Given the description of an element on the screen output the (x, y) to click on. 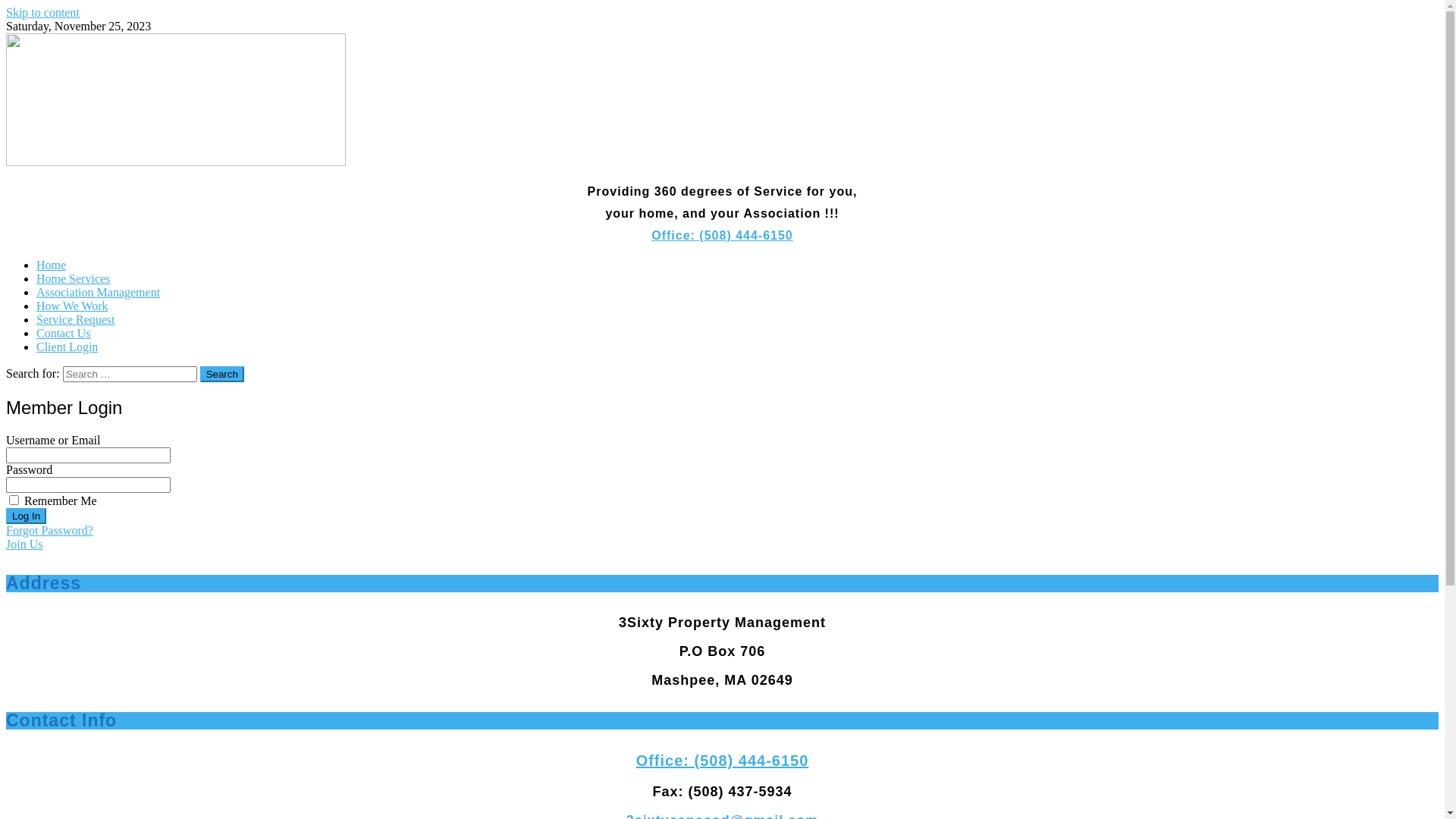
Office: (508) 444-6150 Element type: text (722, 235)
Service Request Element type: text (75, 319)
Client Login Element type: text (66, 346)
Contact Us Element type: text (63, 332)
Home Element type: text (50, 264)
Forgot Password? Element type: text (49, 530)
Association Management Element type: text (98, 291)
Log In Element type: text (26, 516)
Skip to content Element type: text (42, 12)
How We Work Element type: text (72, 305)
Join Us Element type: text (24, 543)
Office: (508) 444-6150 Element type: text (722, 760)
Home Services Element type: text (72, 278)
Search Element type: text (222, 374)
